Given the description of an element on the screen output the (x, y) to click on. 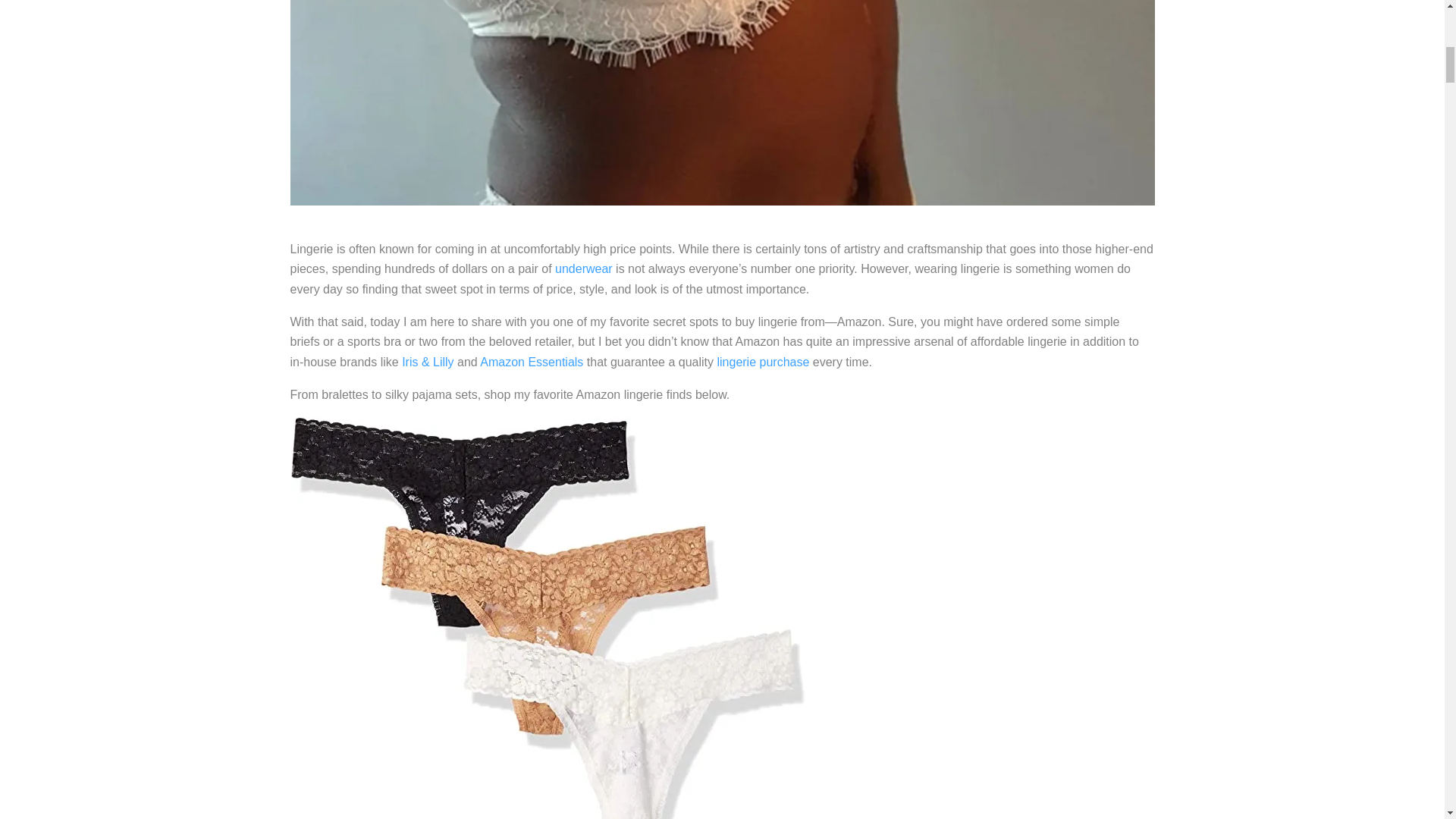
underwear (583, 268)
lingerie purchase (762, 361)
Amazon Essentials (531, 361)
